Given the description of an element on the screen output the (x, y) to click on. 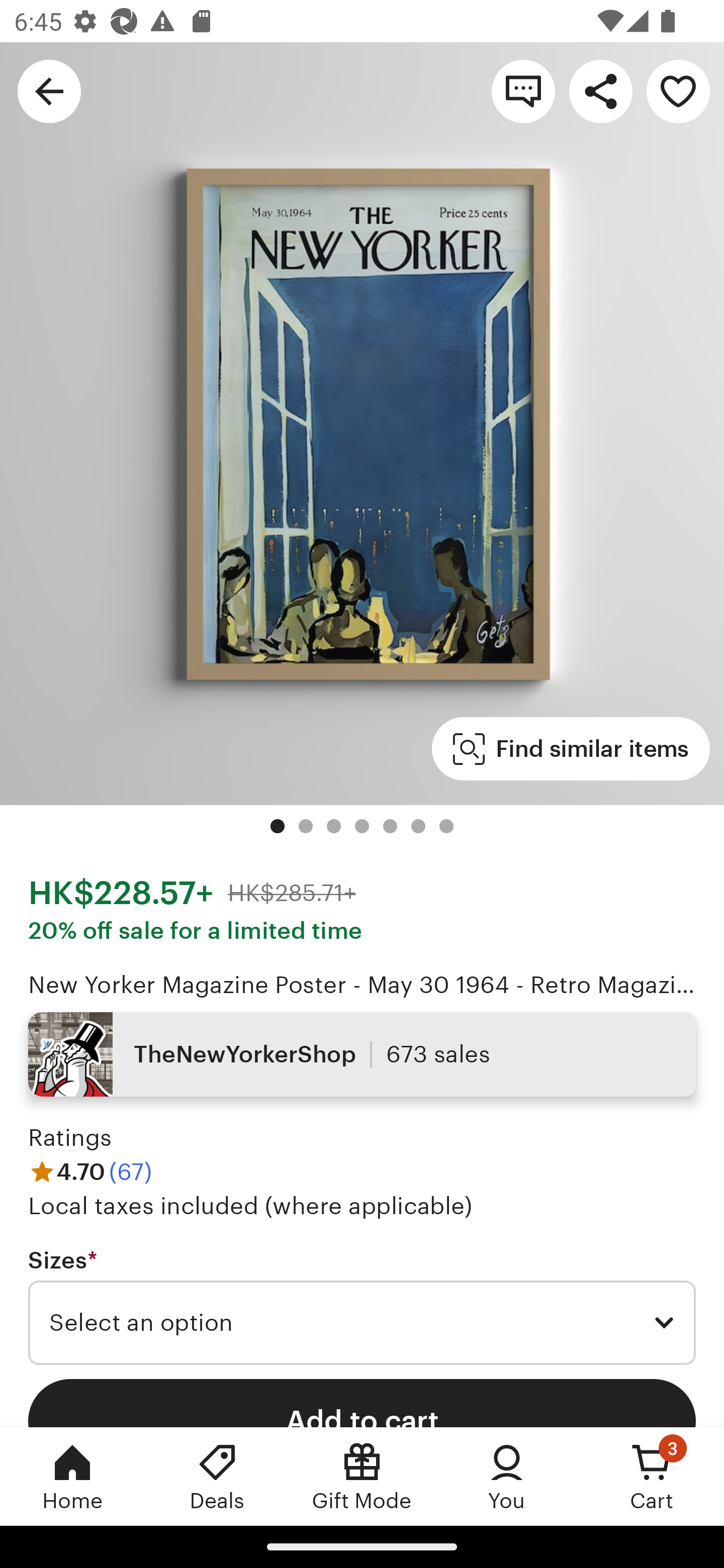
Navigate up (49, 90)
Contact shop (523, 90)
Share (600, 90)
Find similar items (571, 748)
TheNewYorkerShop 673 sales (361, 1054)
Ratings (70, 1137)
4.70 (67) (90, 1171)
Sizes * Required Select an option (361, 1306)
Select an option (361, 1323)
Deals (216, 1475)
Gift Mode (361, 1475)
You (506, 1475)
Cart, 3 new notifications Cart (651, 1475)
